Given the description of an element on the screen output the (x, y) to click on. 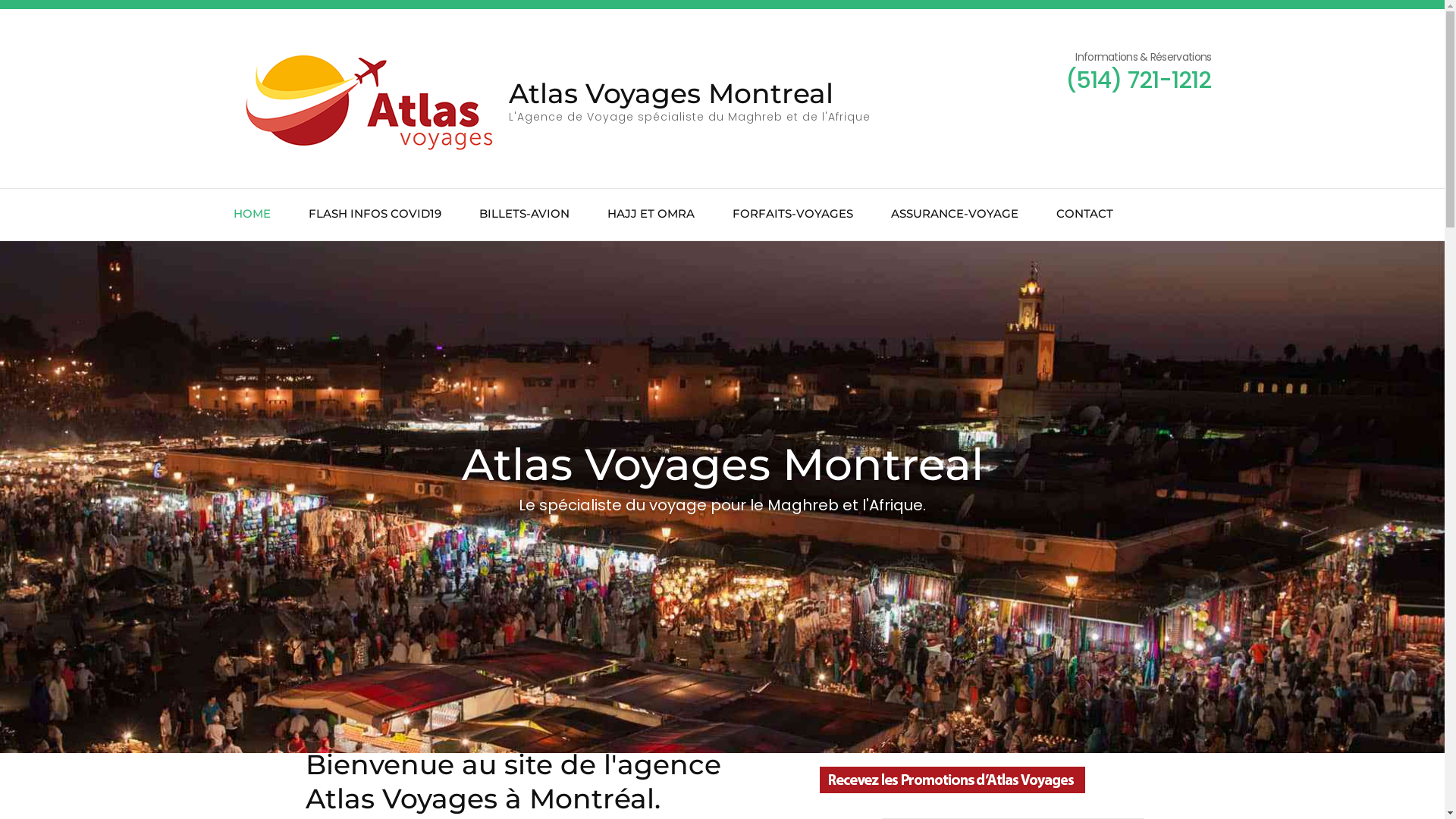
FLASH INFOS COVID19 Element type: text (373, 214)
FORFAITS-VOYAGES Element type: text (792, 214)
HAJJ ET OMRA Element type: text (649, 214)
ASSURANCE-VOYAGE Element type: text (953, 214)
Atlas Voyages Montreal Element type: text (670, 92)
HOME Element type: text (251, 214)
(514) 721-1212 Element type: text (1138, 80)
CONTACT Element type: text (1083, 214)
BILLETS-AVION Element type: text (524, 214)
